Given the description of an element on the screen output the (x, y) to click on. 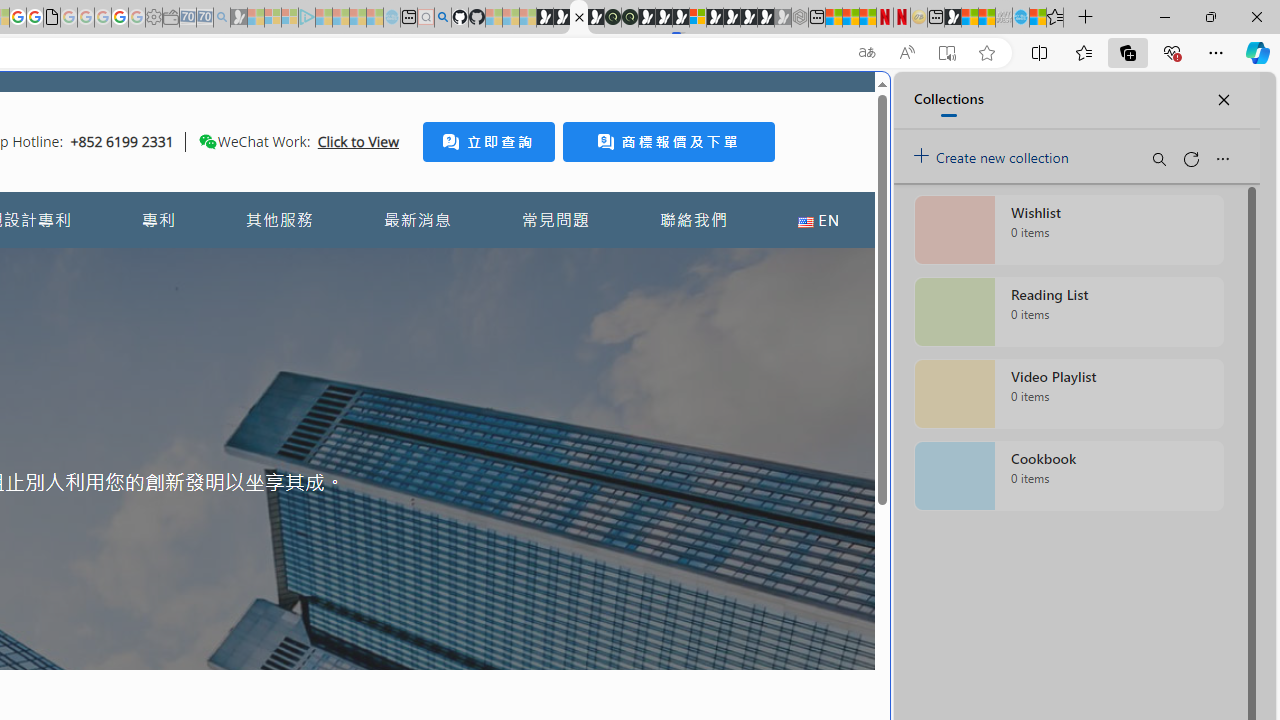
Microsoft account | Privacy - Sleeping (289, 17)
Services - Maintenance | Sky Blue Bikes - Sky Blue Bikes (1020, 17)
Play Zoo Boom in your browser | Games from Microsoft Start (561, 17)
Future Focus Report 2024 (629, 17)
Settings - Sleeping (153, 17)
Microsoft Start Gaming - Sleeping (238, 17)
Close split screen (844, 102)
